Given the description of an element on the screen output the (x, y) to click on. 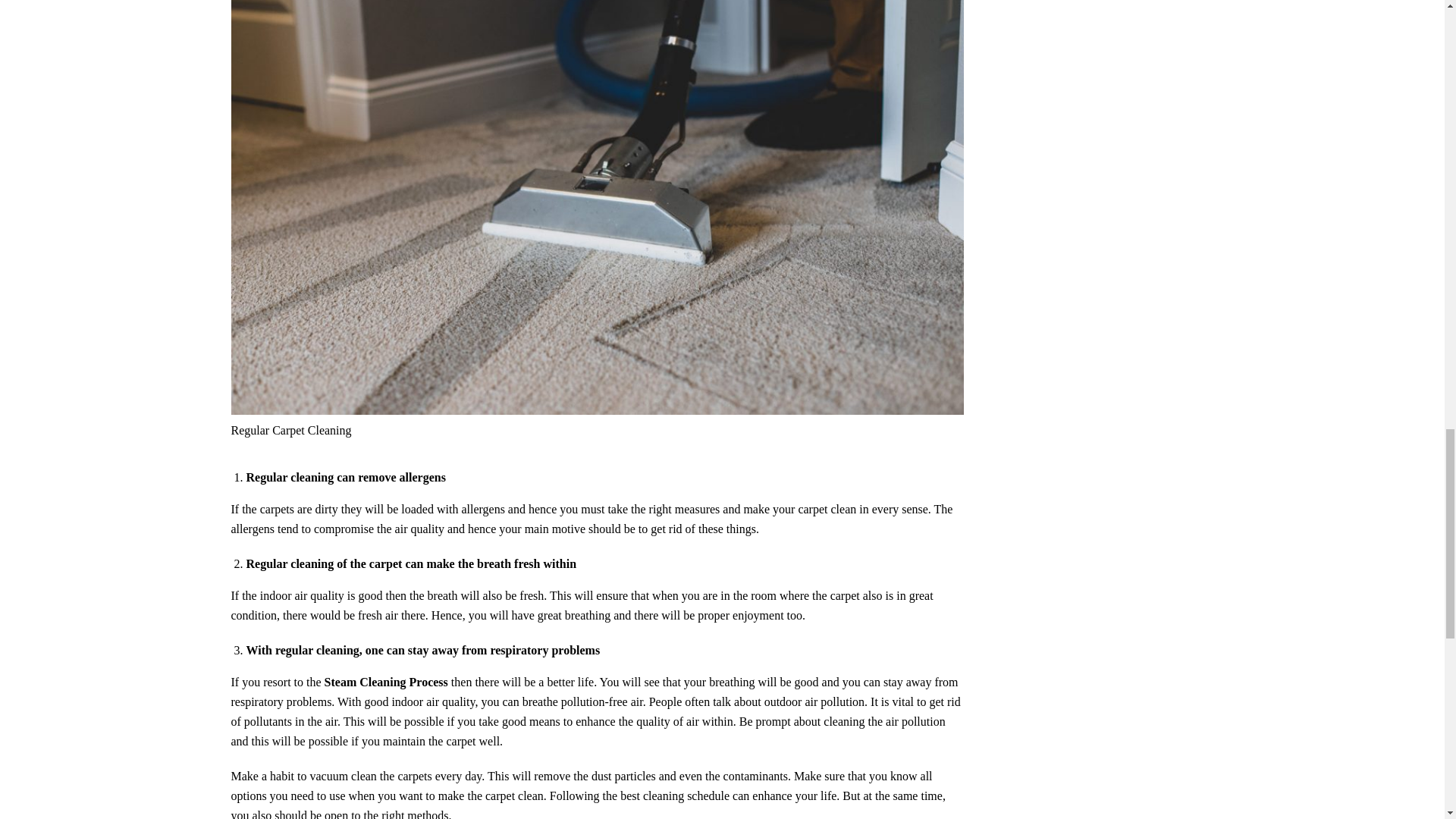
Steam Cleaning Process (386, 681)
Regular cleaning of the carpet (323, 563)
